Given the description of an element on the screen output the (x, y) to click on. 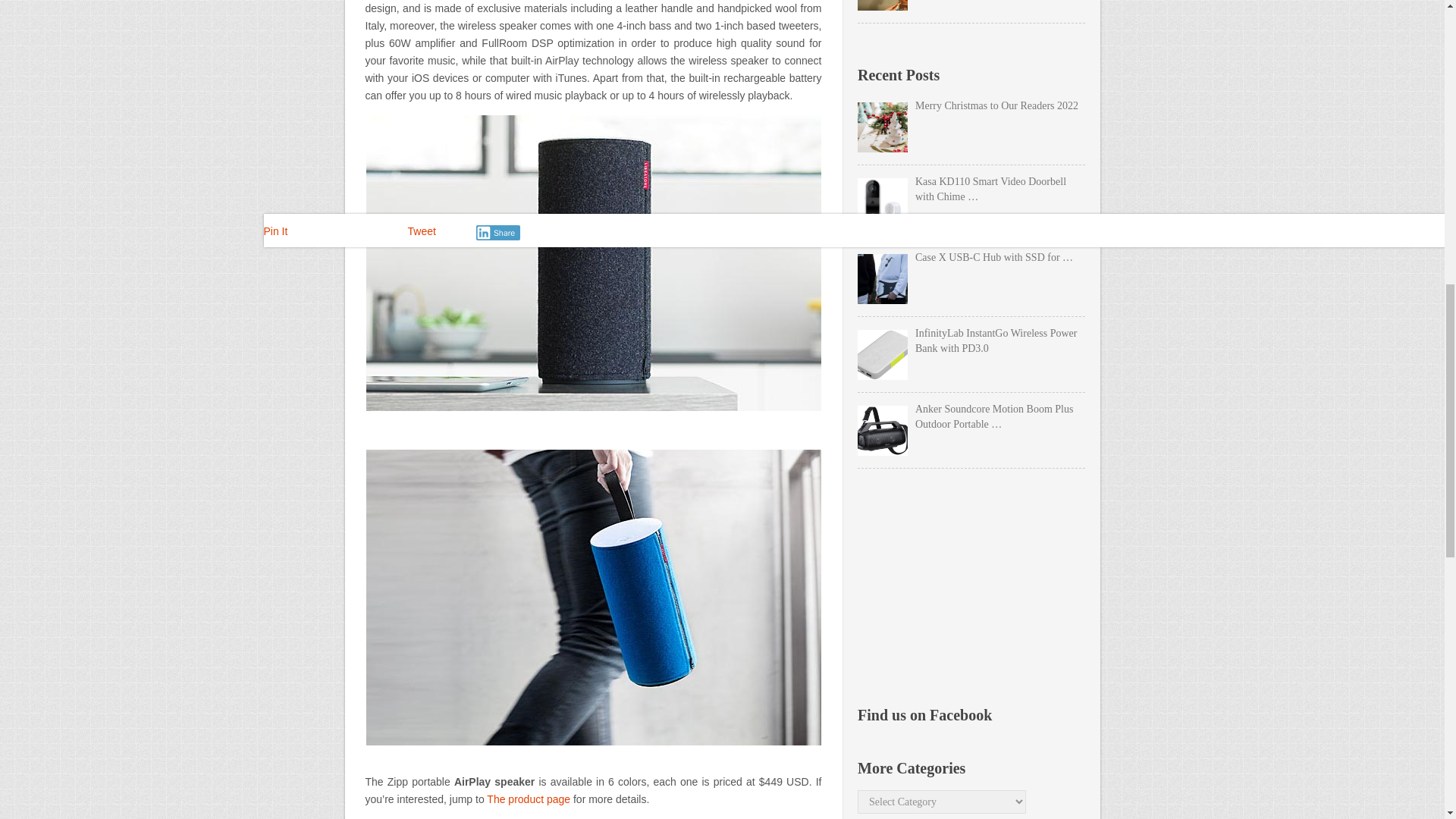
The product page (528, 799)
